Given the description of an element on the screen output the (x, y) to click on. 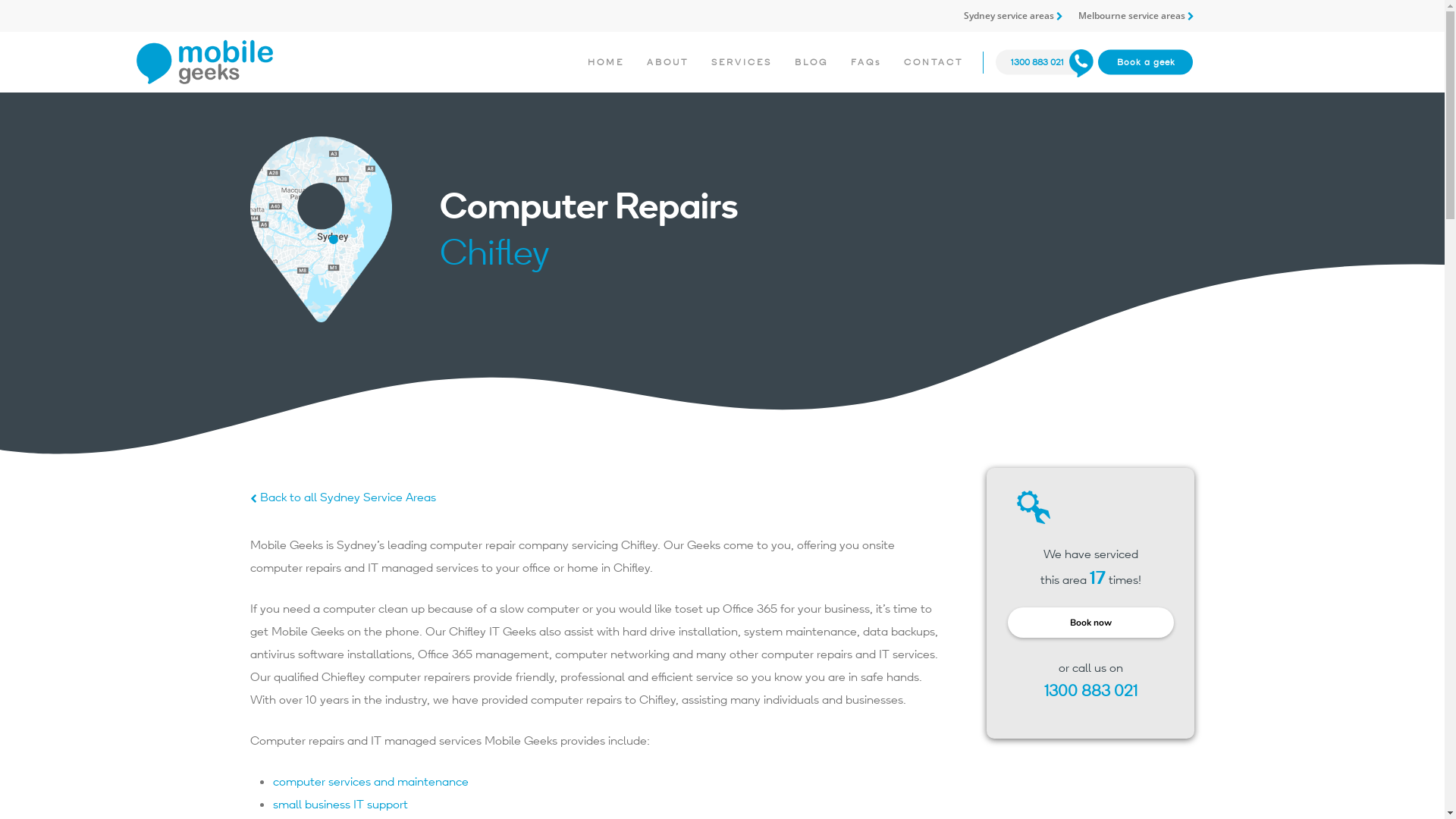
1300 883 021 Element type: text (1037, 62)
computer services and maintenance Element type: text (370, 781)
Book a geek Element type: text (1146, 62)
CONTACT Element type: text (933, 62)
Chifley 1 Element type: hover (320, 229)
Melbourne service areas Element type: text (1136, 16)
Book now Element type: text (1090, 622)
HOME Element type: text (605, 62)
ABOUT Element type: text (667, 62)
FAQs Element type: text (865, 62)
BLOG Element type: text (811, 62)
SERVICES Element type: text (741, 62)
Chifley 3 Element type: hover (1018, 507)
Back to all Sydney Service Areas Element type: text (343, 497)
small business IT support Element type: text (340, 804)
Sydney service areas Element type: text (1013, 16)
